Given the description of an element on the screen output the (x, y) to click on. 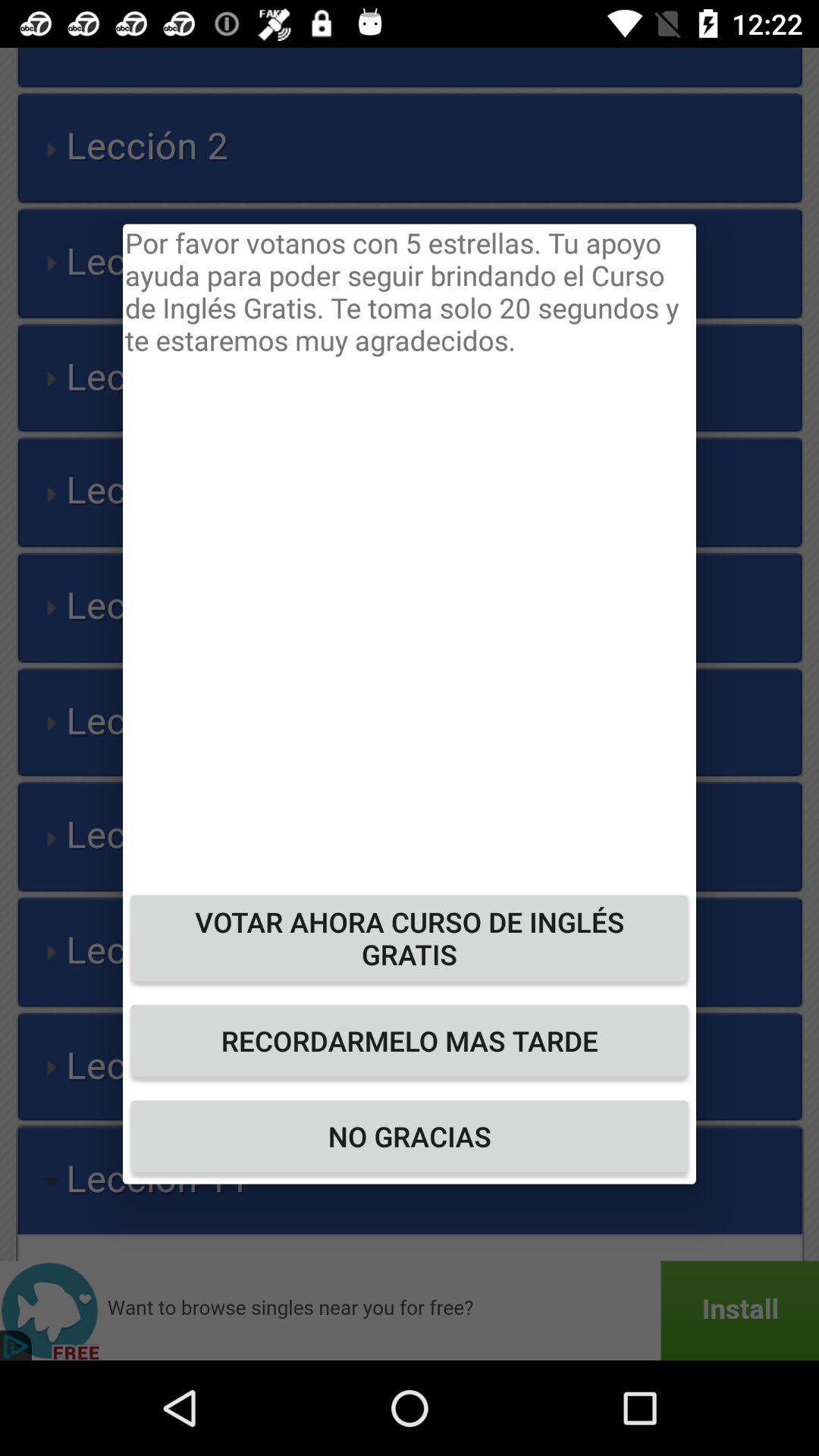
jump until the votar ahora curso icon (409, 938)
